Given the description of an element on the screen output the (x, y) to click on. 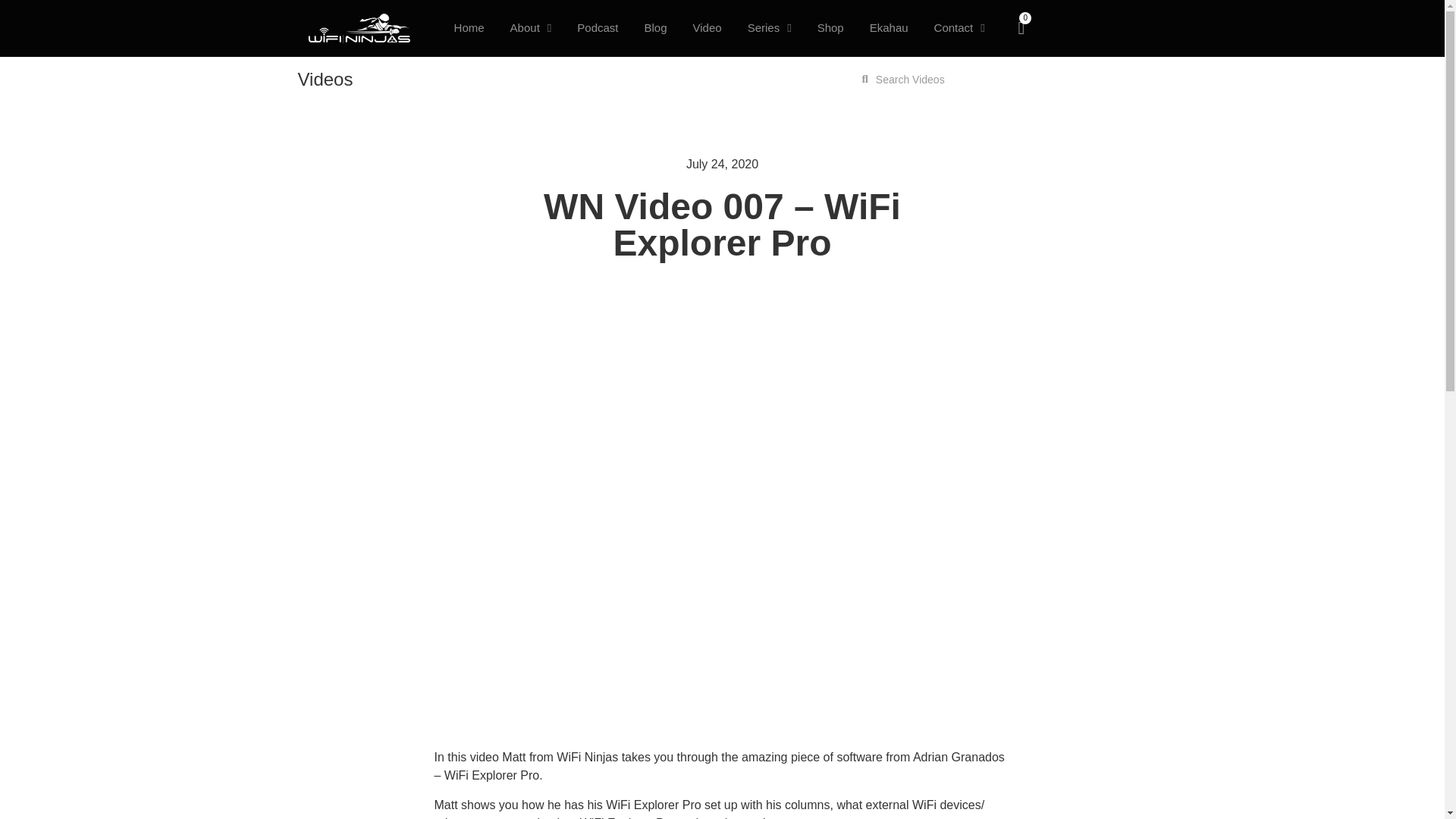
Search (959, 78)
Series (770, 27)
Contact (959, 27)
About (531, 27)
Podcast (596, 27)
Ekahau (888, 27)
